Given the description of an element on the screen output the (x, y) to click on. 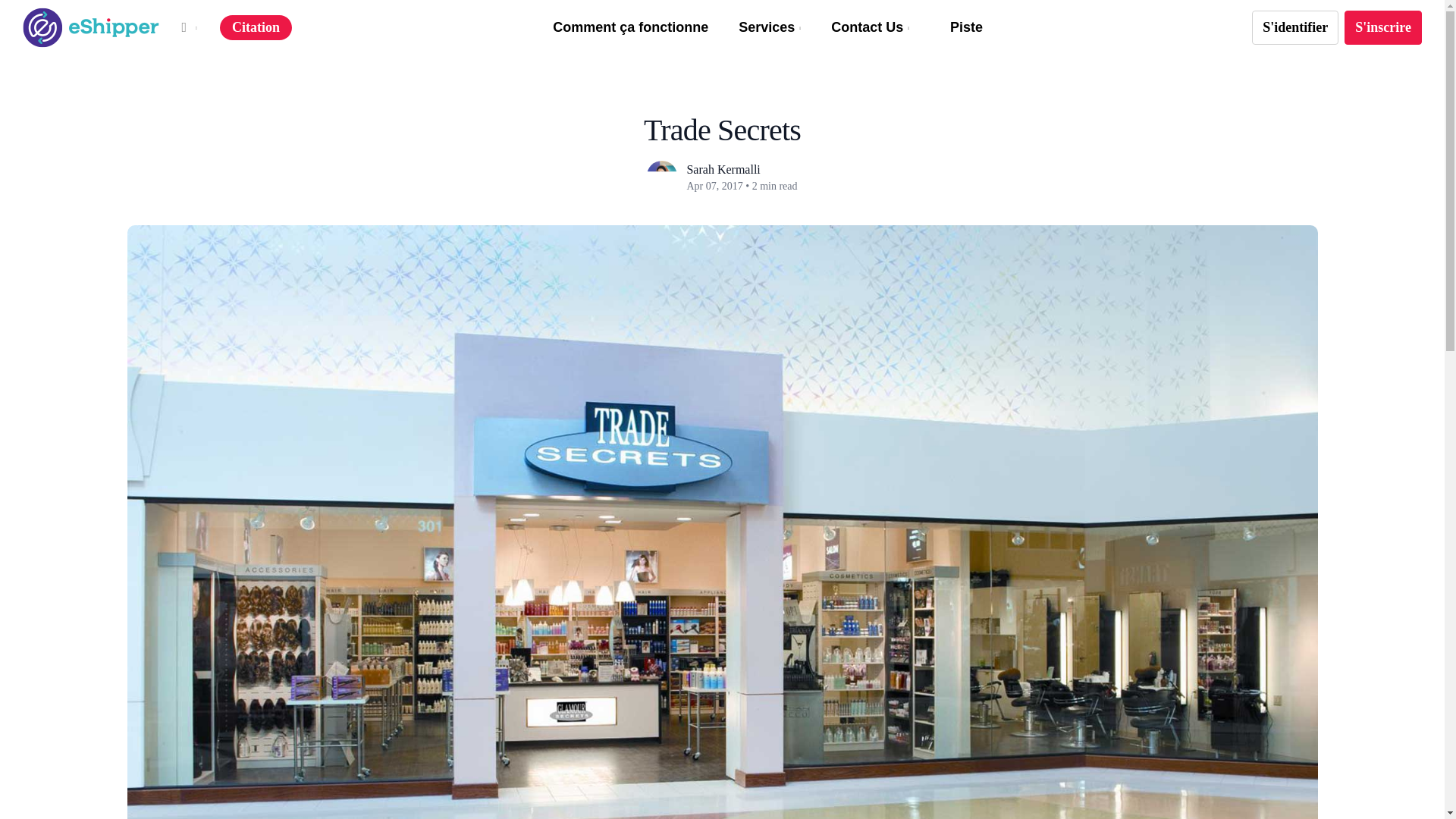
Services (769, 27)
Start search (709, 5)
Citation (255, 27)
Contact Us (869, 27)
